Given the description of an element on the screen output the (x, y) to click on. 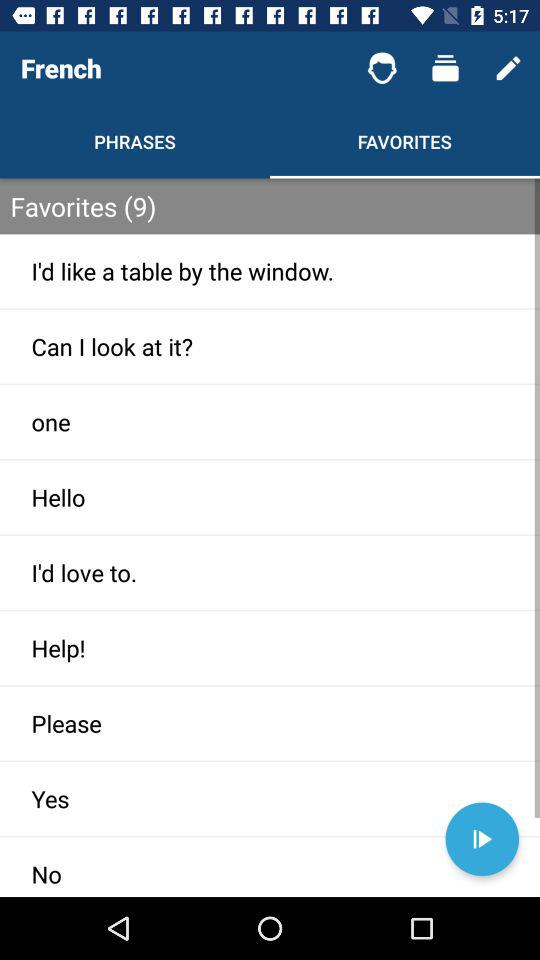
choose the item to the right of french item (381, 67)
